Given the description of an element on the screen output the (x, y) to click on. 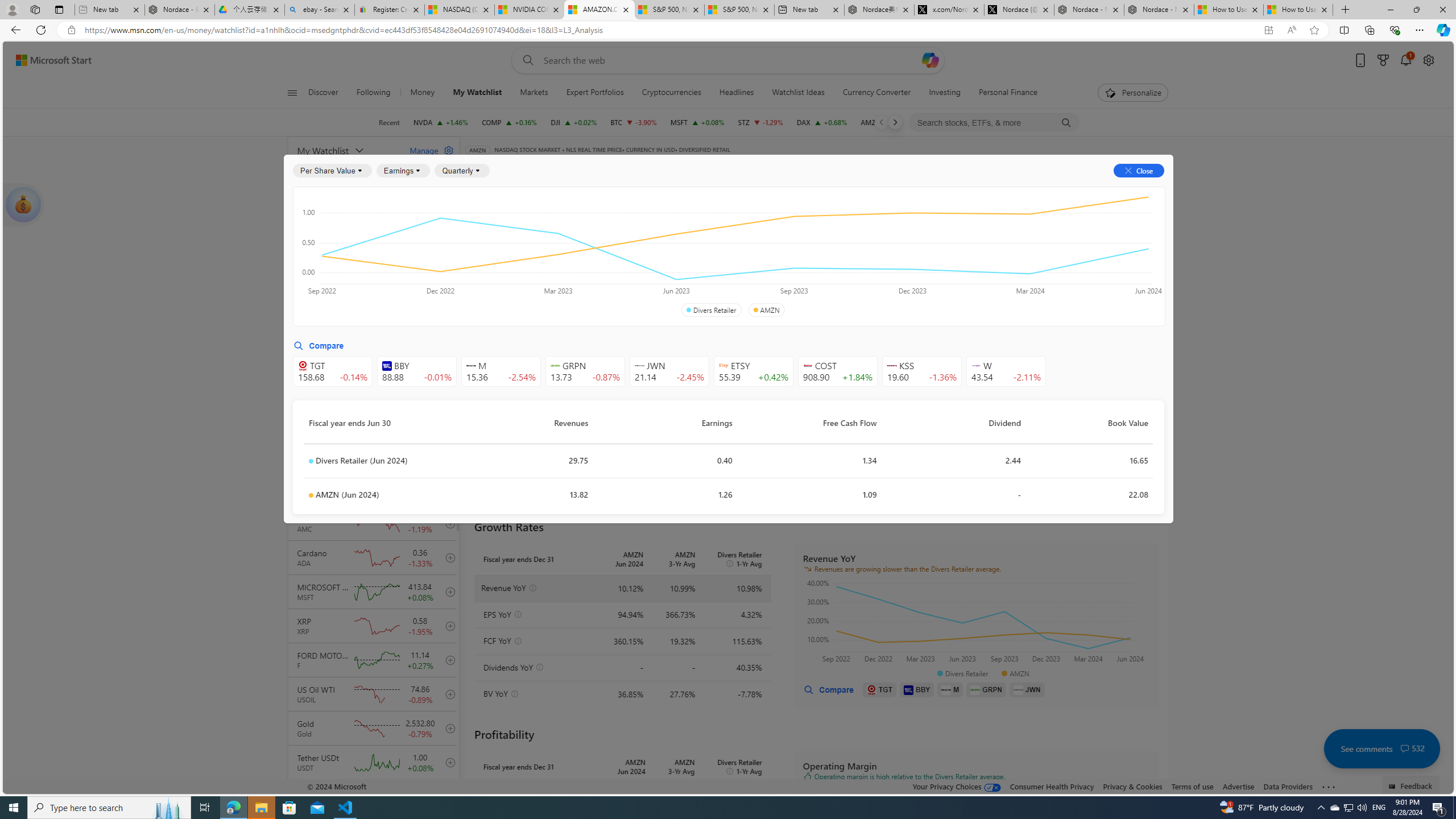
Read aloud this page (Ctrl+Shift+U) (1291, 29)
Tab actions menu (58, 9)
New Tab (1346, 9)
Sentiment (1066, 188)
App available. Install Start Money (1268, 29)
STZ CONSTELLATION BRANDS, INC. decrease 239.98 -3.13 -1.29% (760, 122)
Money (422, 92)
Income Statement (550, 223)
show card (22, 204)
Microsoft Start (53, 60)
